Given the description of an element on the screen output the (x, y) to click on. 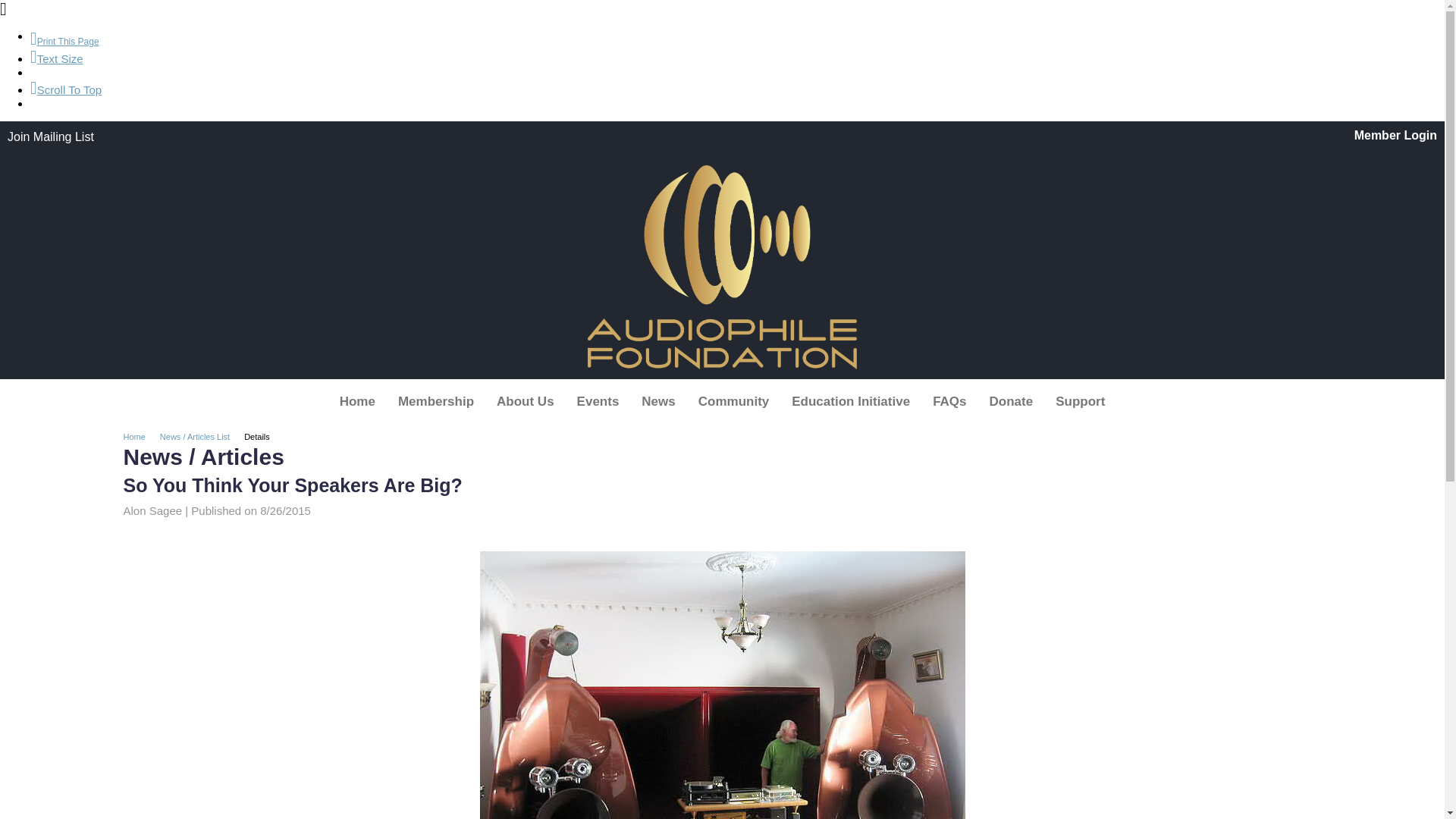
Menu (722, 401)
Print (64, 41)
Support (1080, 401)
Go To Top (65, 89)
Member Login (1395, 134)
FAQs (949, 401)
Donate (1011, 401)
Home (356, 401)
Join Mailing List (50, 137)
Home (138, 436)
